Given the description of an element on the screen output the (x, y) to click on. 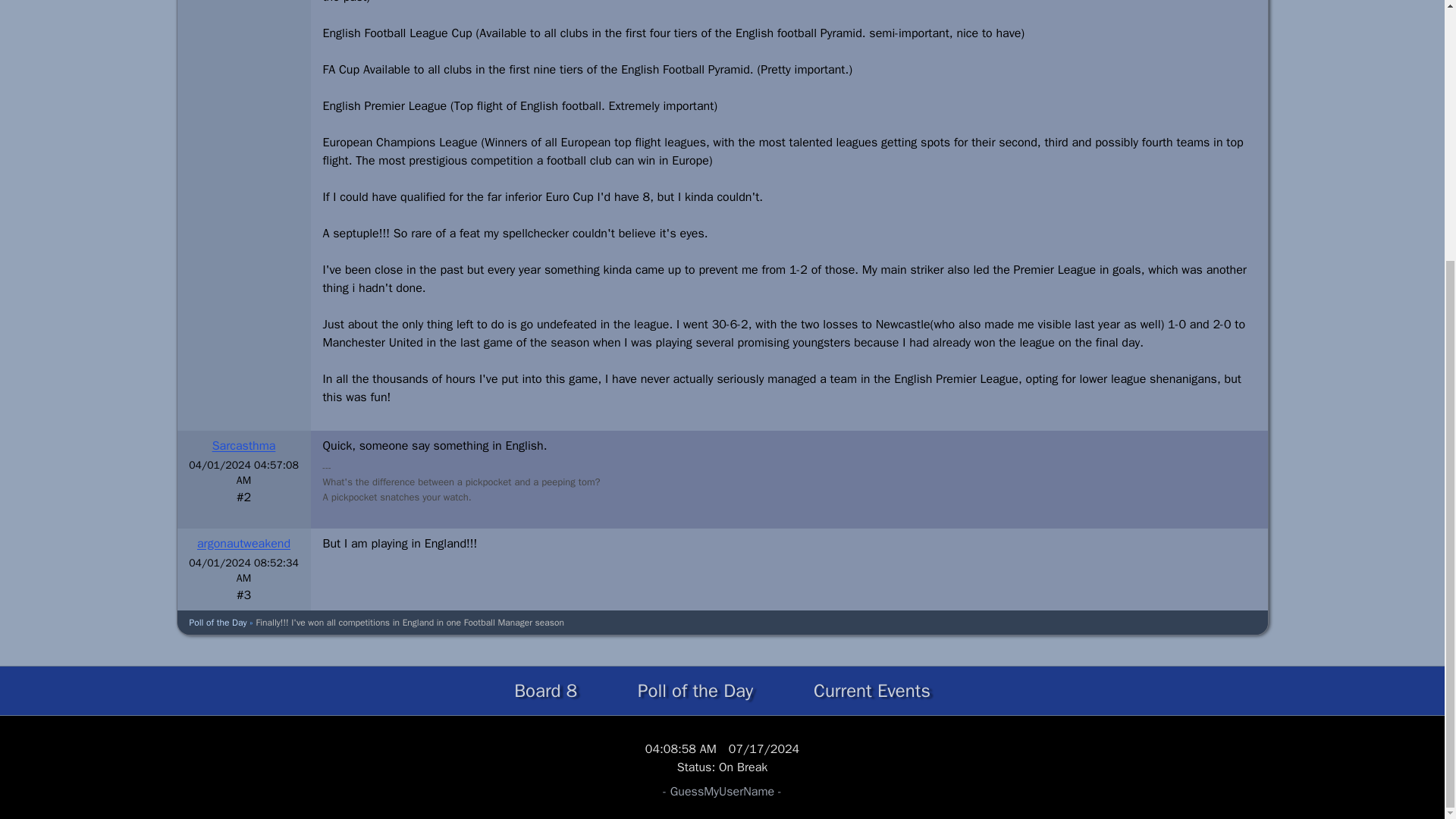
Poll of the Day (218, 622)
Sarcasthma (244, 445)
Current Events (872, 690)
Board 8 (545, 690)
argonautweakend (242, 543)
Poll of the Day (695, 690)
